Given the description of an element on the screen output the (x, y) to click on. 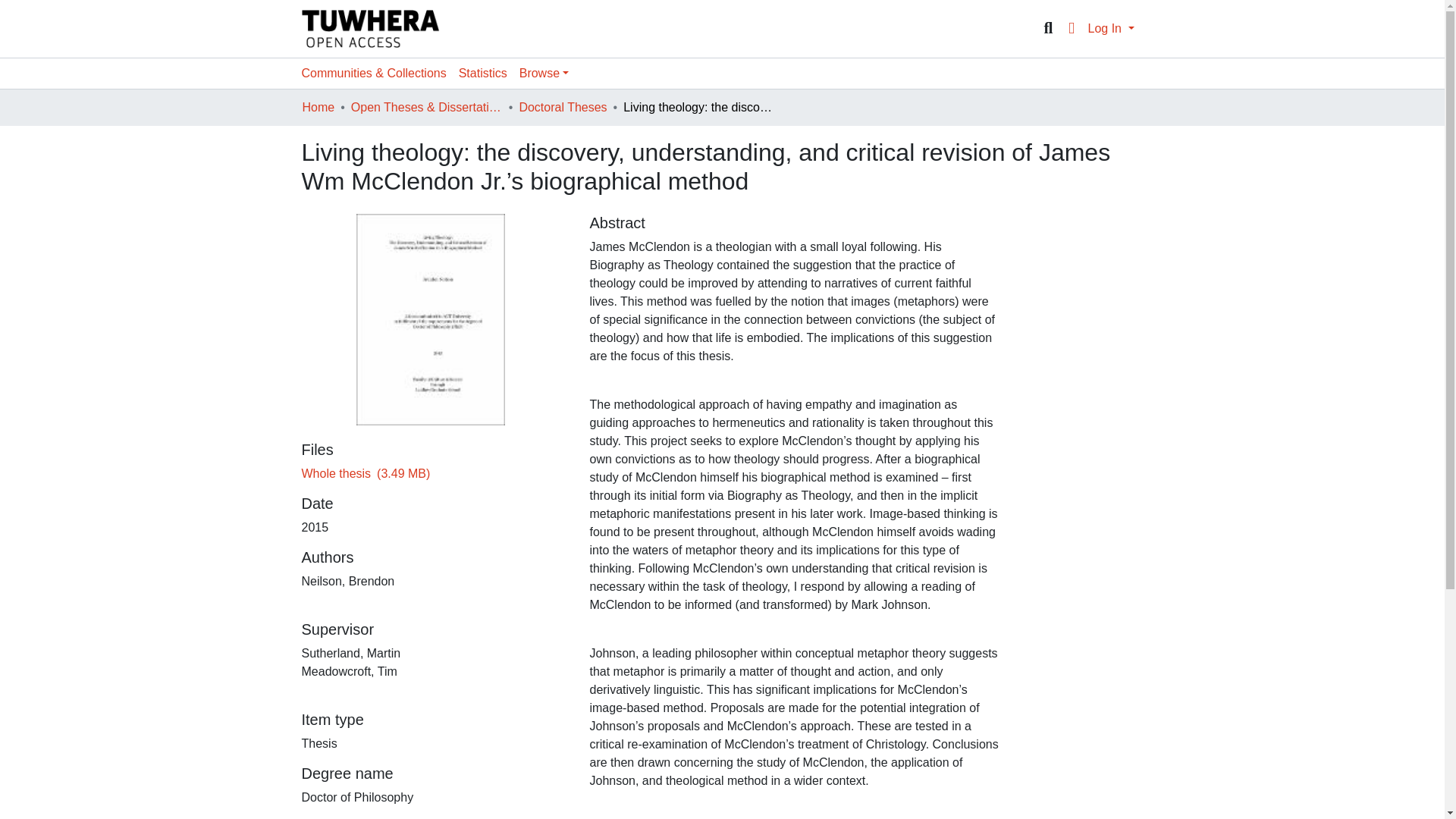
Log In (1110, 28)
Statistics (482, 73)
Statistics (482, 73)
Browse (544, 73)
Home (317, 107)
Language switch (1071, 28)
Doctoral Theses (562, 107)
Search (1048, 28)
